Given the description of an element on the screen output the (x, y) to click on. 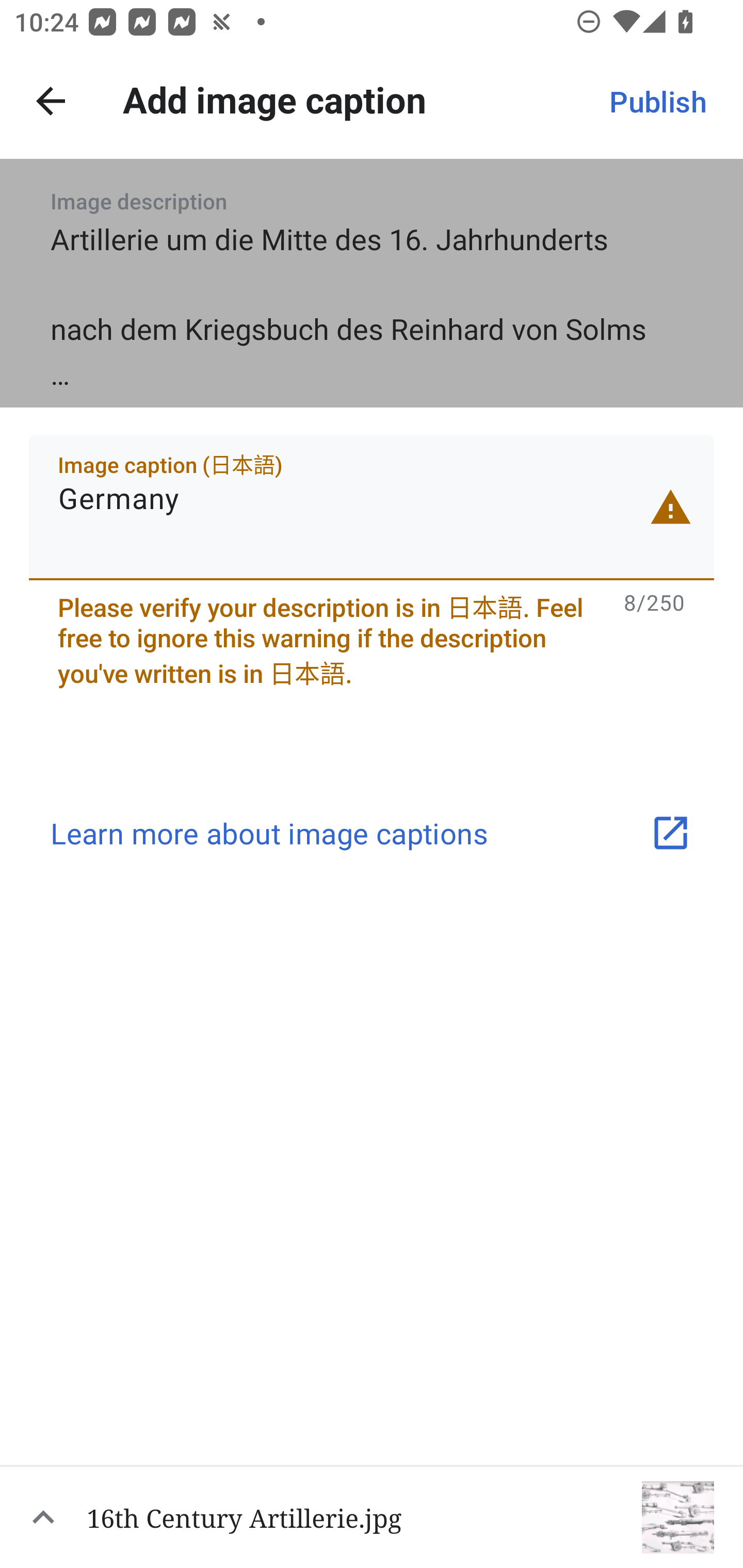
Cancel (50, 101)
Publish (657, 101)
Germany
 (371, 507)
Learn more about image captions (371, 833)
16th Century Artillerie.jpg (371, 1516)
